Given the description of an element on the screen output the (x, y) to click on. 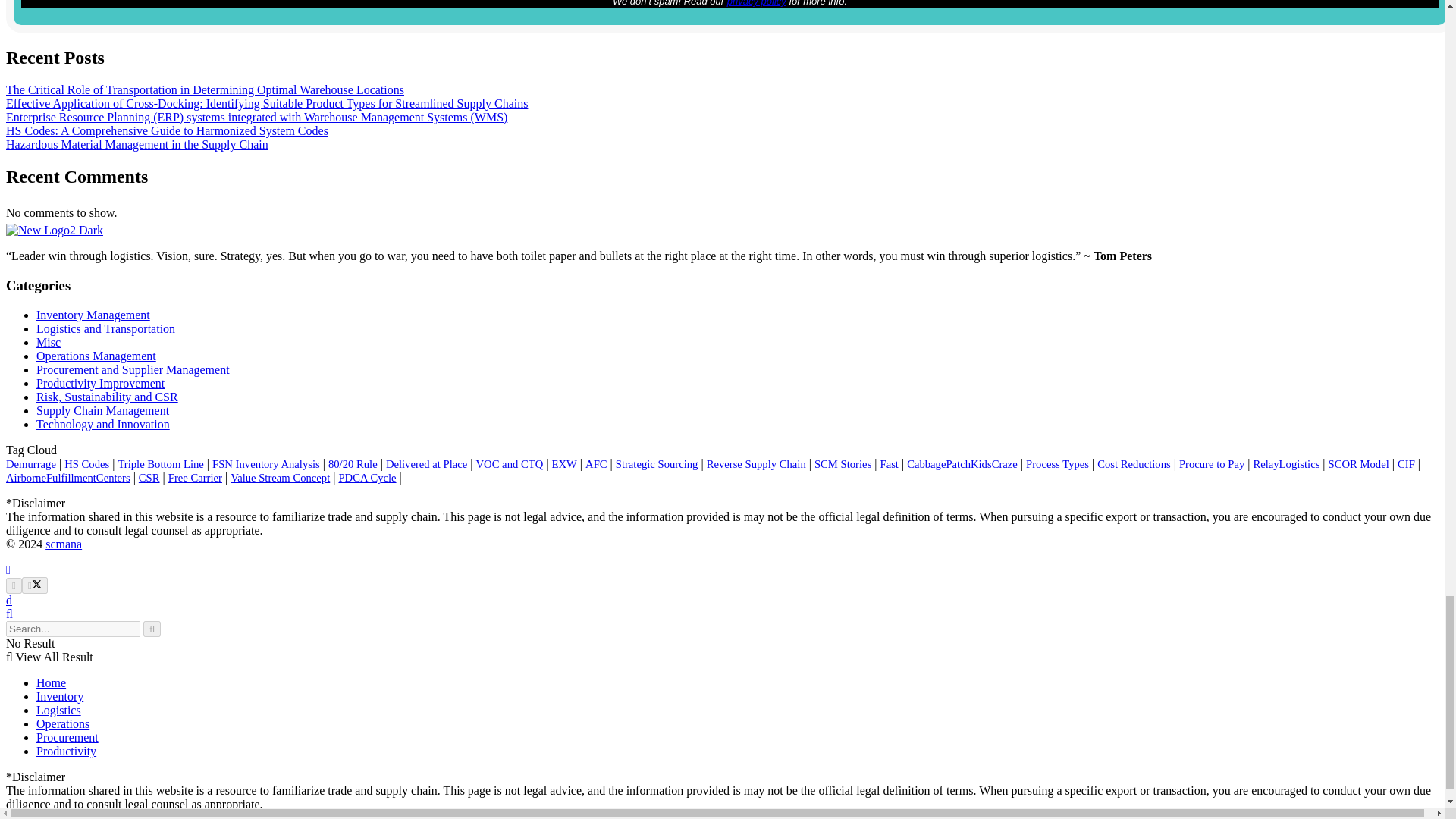
1 topics (509, 463)
1 topics (426, 463)
1 topics (30, 463)
1 topics (756, 463)
1 topics (266, 463)
1 topics (656, 463)
1 topics (353, 463)
1 topics (596, 463)
1 topics (160, 463)
1 topics (86, 463)
